Given the description of an element on the screen output the (x, y) to click on. 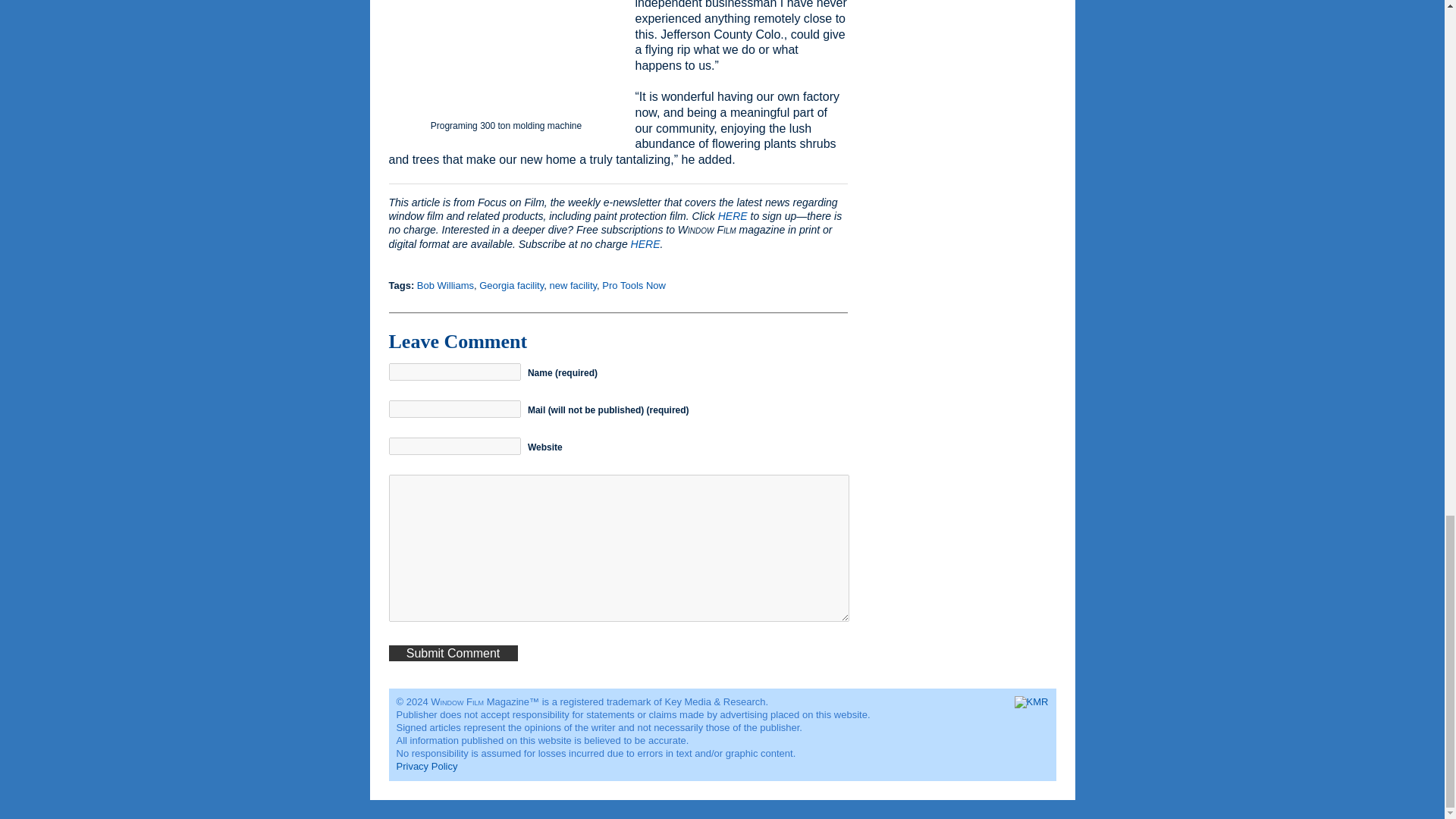
new facility (572, 285)
Georgia facility (511, 285)
HERE (732, 215)
Bob Williams (445, 285)
Submit Comment (452, 652)
Pro Tools Now (633, 285)
HERE (645, 244)
Submit Comment (452, 652)
